Given the description of an element on the screen output the (x, y) to click on. 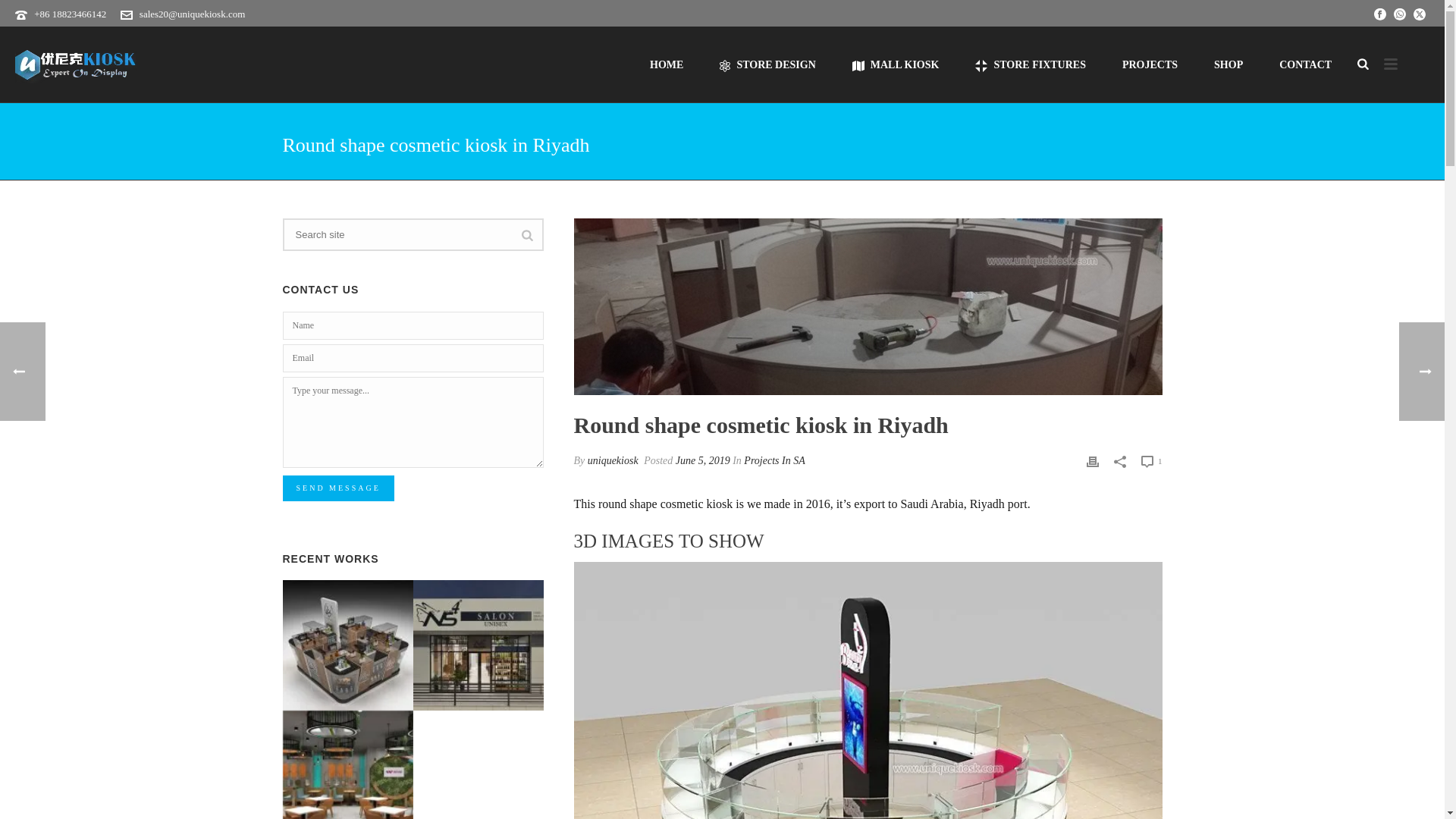
STORE FIXTURES (1030, 64)
SHOP (1227, 64)
PROJECTS (1149, 64)
HOME (666, 64)
MALL KIOSK (895, 64)
STORE DESIGN (767, 64)
STORE FIXTURES (1030, 64)
Round shape cosmetic kiosk in Riyadh (867, 306)
STORE DESIGN (767, 64)
HOME (666, 64)
